Given the description of an element on the screen output the (x, y) to click on. 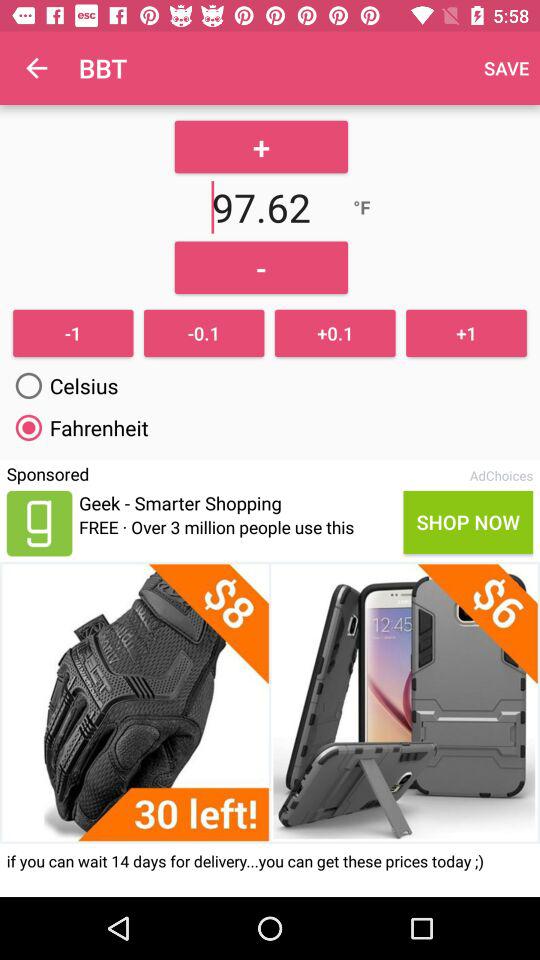
go to page (39, 523)
